Given the description of an element on the screen output the (x, y) to click on. 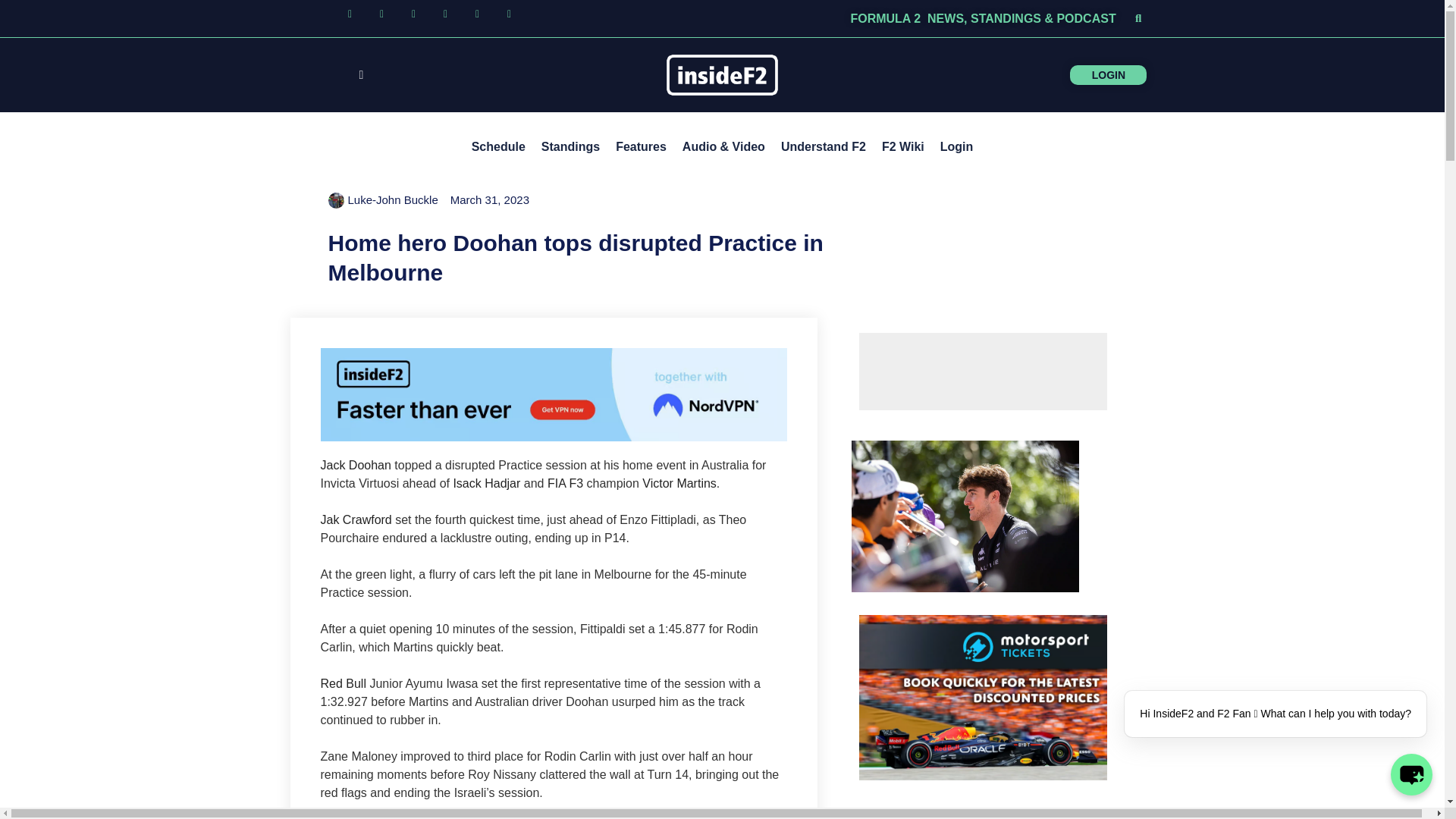
Advertisement (982, 371)
Standings (570, 146)
Features (641, 146)
March 31, 2023 (489, 200)
Red Bull (342, 683)
Victor Martins (679, 482)
Jak Crawford (355, 519)
Login (957, 146)
F2 Wiki (903, 146)
Isack Hadjar (485, 482)
FIA F3 (565, 482)
Jack Doohan (355, 464)
LOGIN (1134, 74)
Luke-John Buckle (382, 200)
Understand F2 (823, 146)
